Given the description of an element on the screen output the (x, y) to click on. 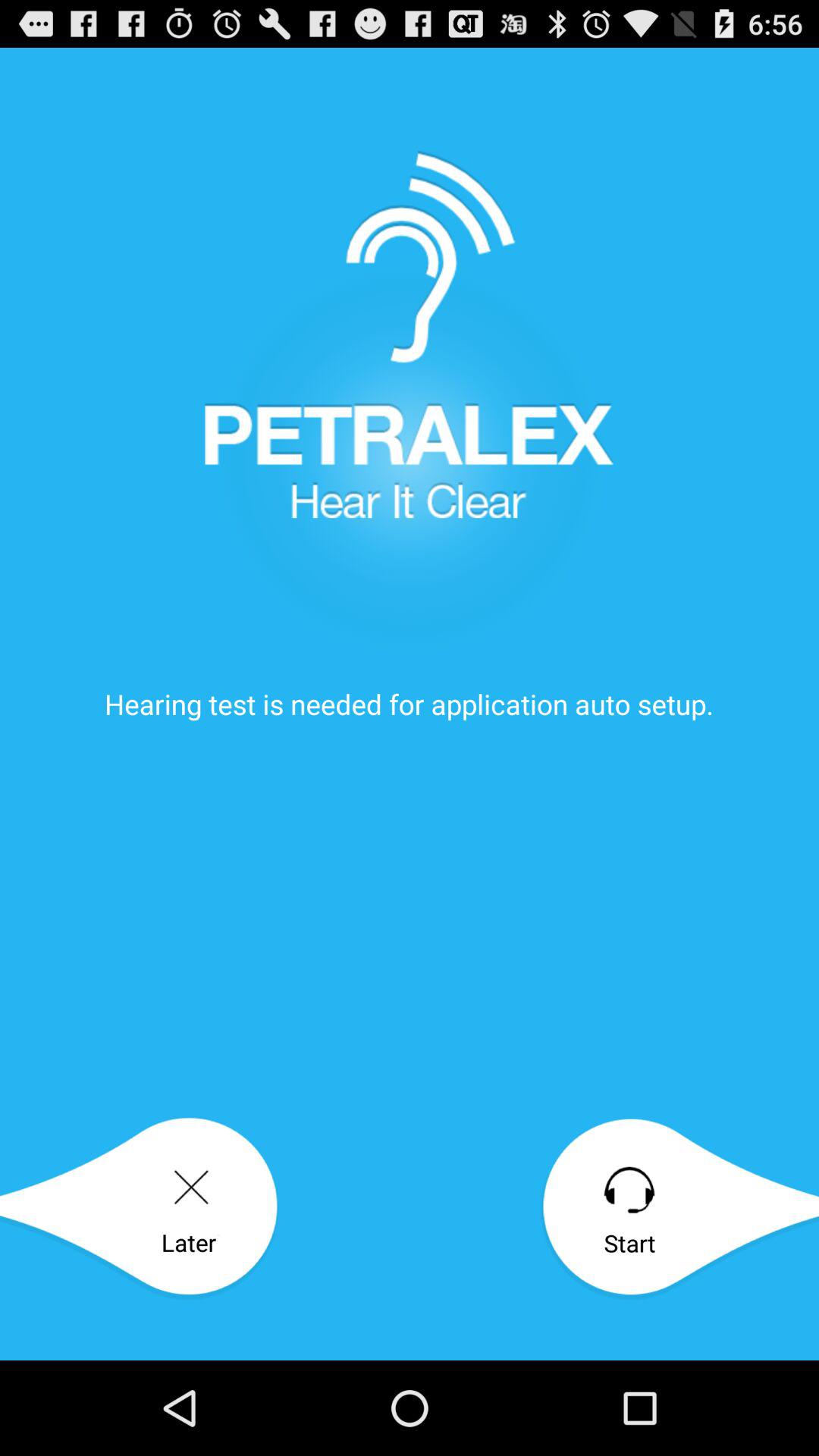
flip until later (139, 1208)
